Given the description of an element on the screen output the (x, y) to click on. 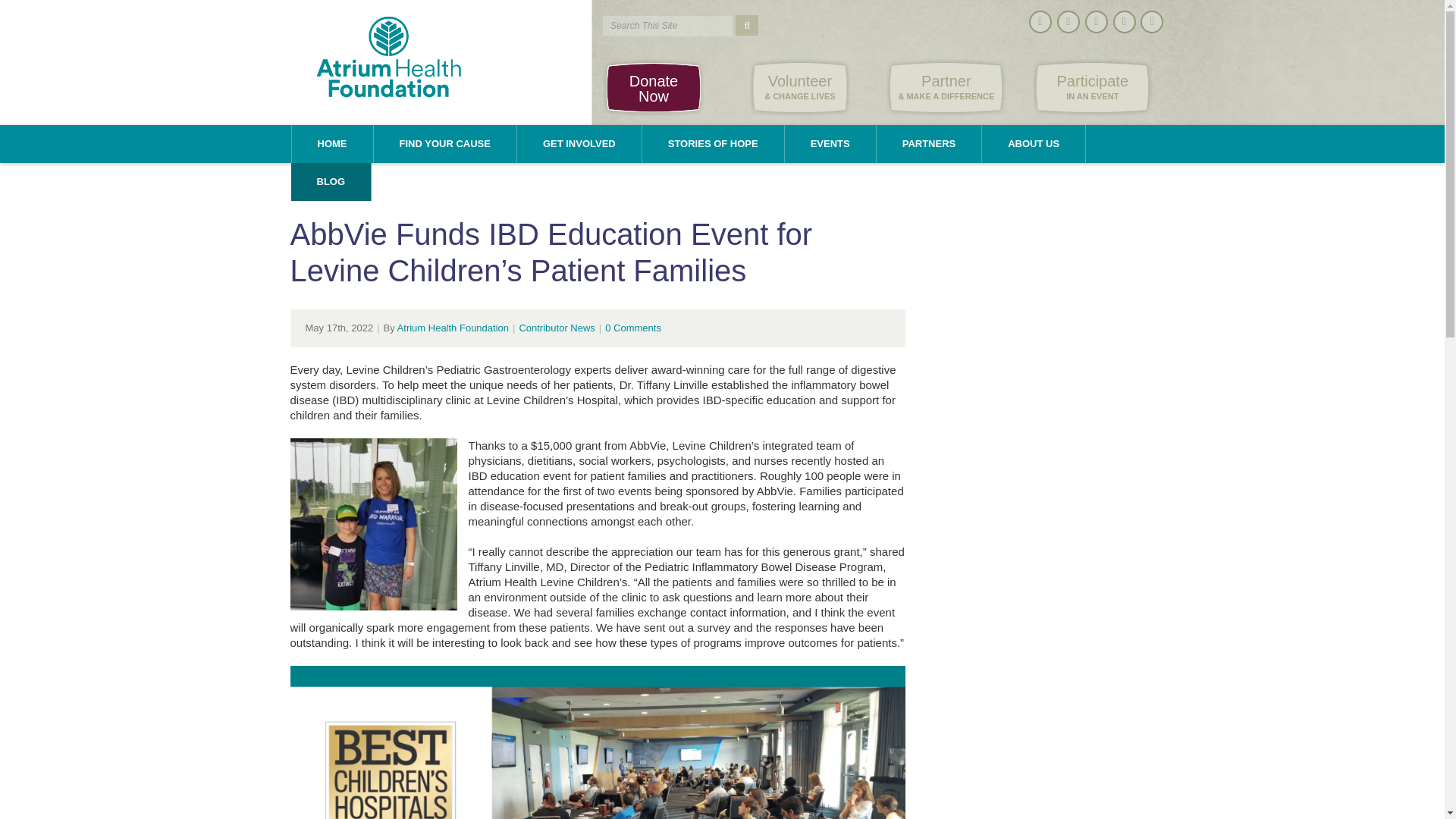
Search This Site (667, 25)
Donate Now (1092, 87)
STORIES OF HOPE (652, 87)
FIND YOUR CAUSE (713, 143)
GET INVOLVED (443, 143)
Search This Site (579, 143)
Posts by Atrium Health Foundation (667, 25)
HOME (452, 327)
